Given the description of an element on the screen output the (x, y) to click on. 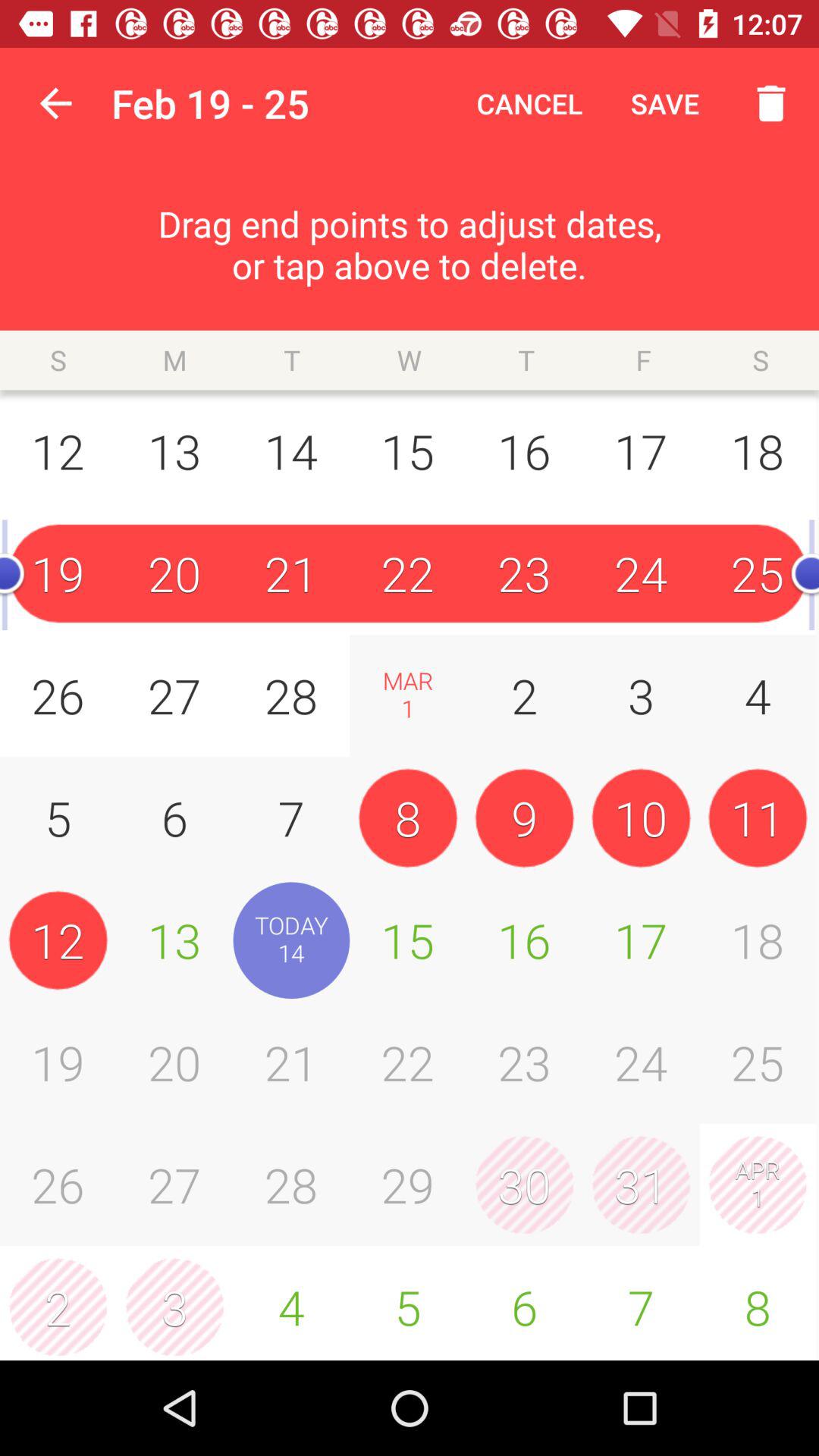
select icon to the right of the feb 19 - 25 (529, 103)
